Given the description of an element on the screen output the (x, y) to click on. 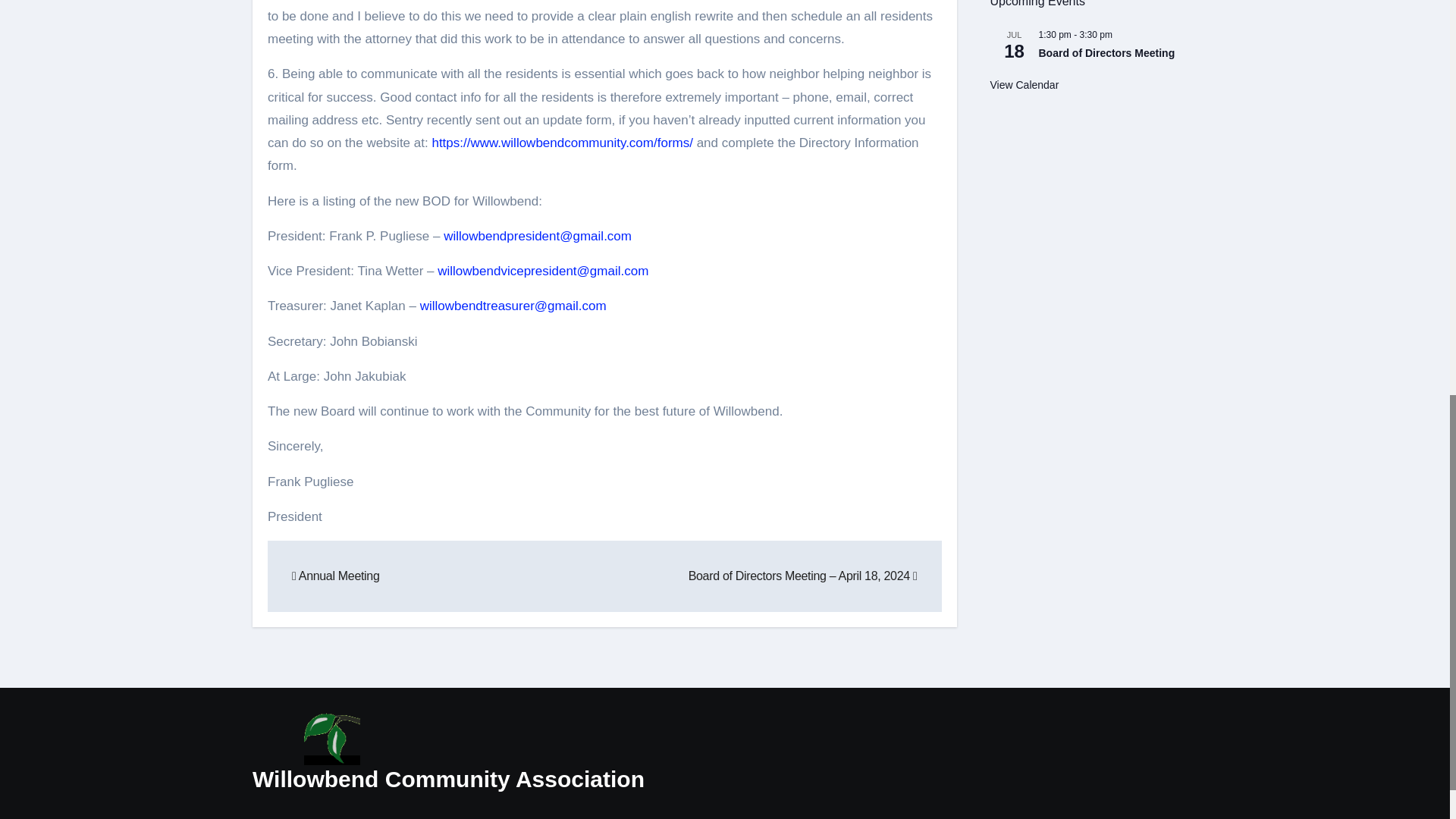
Board of Directors Meeting (1106, 52)
View more events. (1024, 84)
Annual Meeting (335, 575)
